Given the description of an element on the screen output the (x, y) to click on. 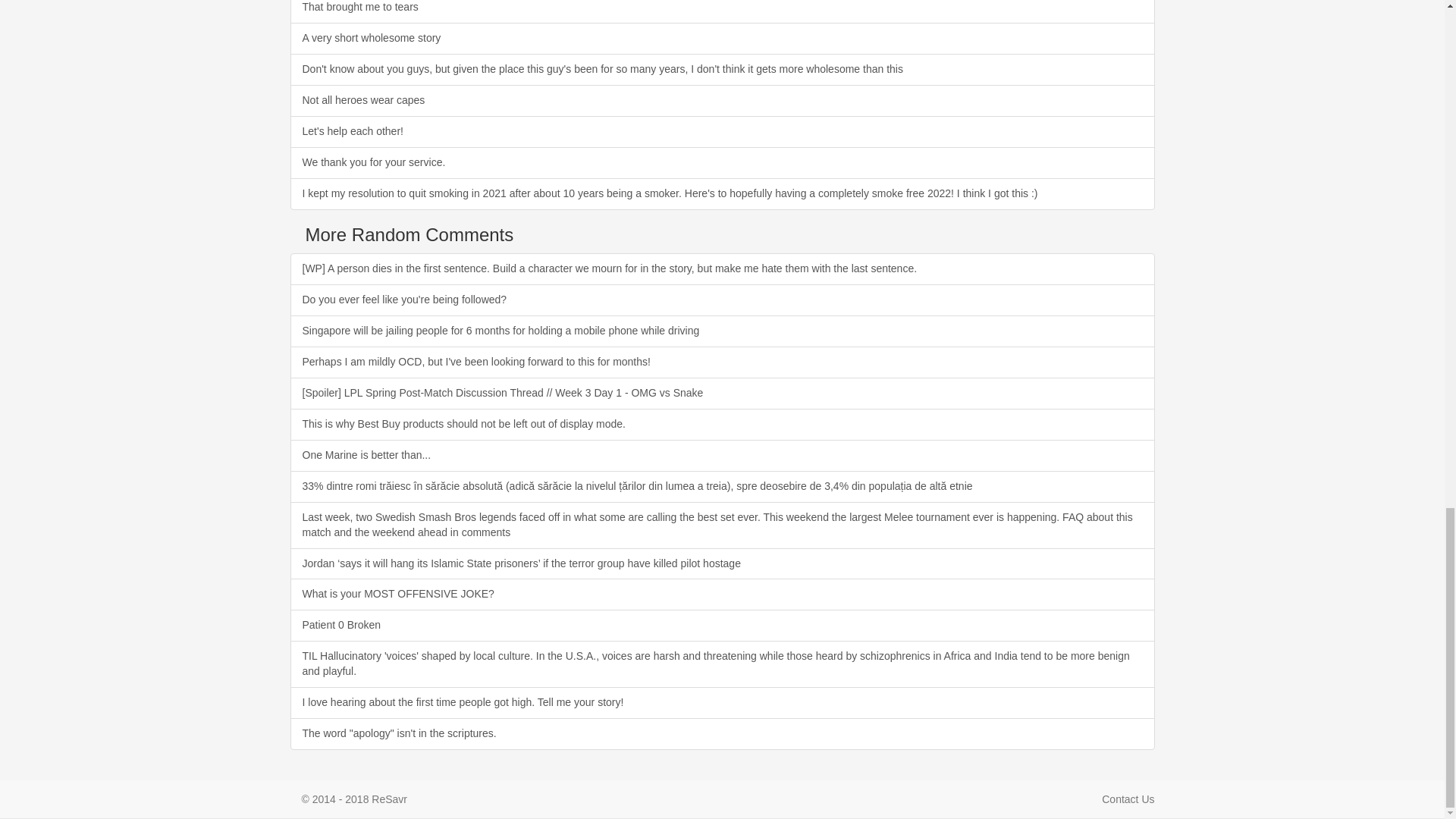
Do you ever feel like you're being followed? (721, 300)
One Marine is better than... (721, 455)
Not all heroes wear capes (721, 101)
We thank you for your service. (721, 163)
Let's help each other! (721, 132)
